Given the description of an element on the screen output the (x, y) to click on. 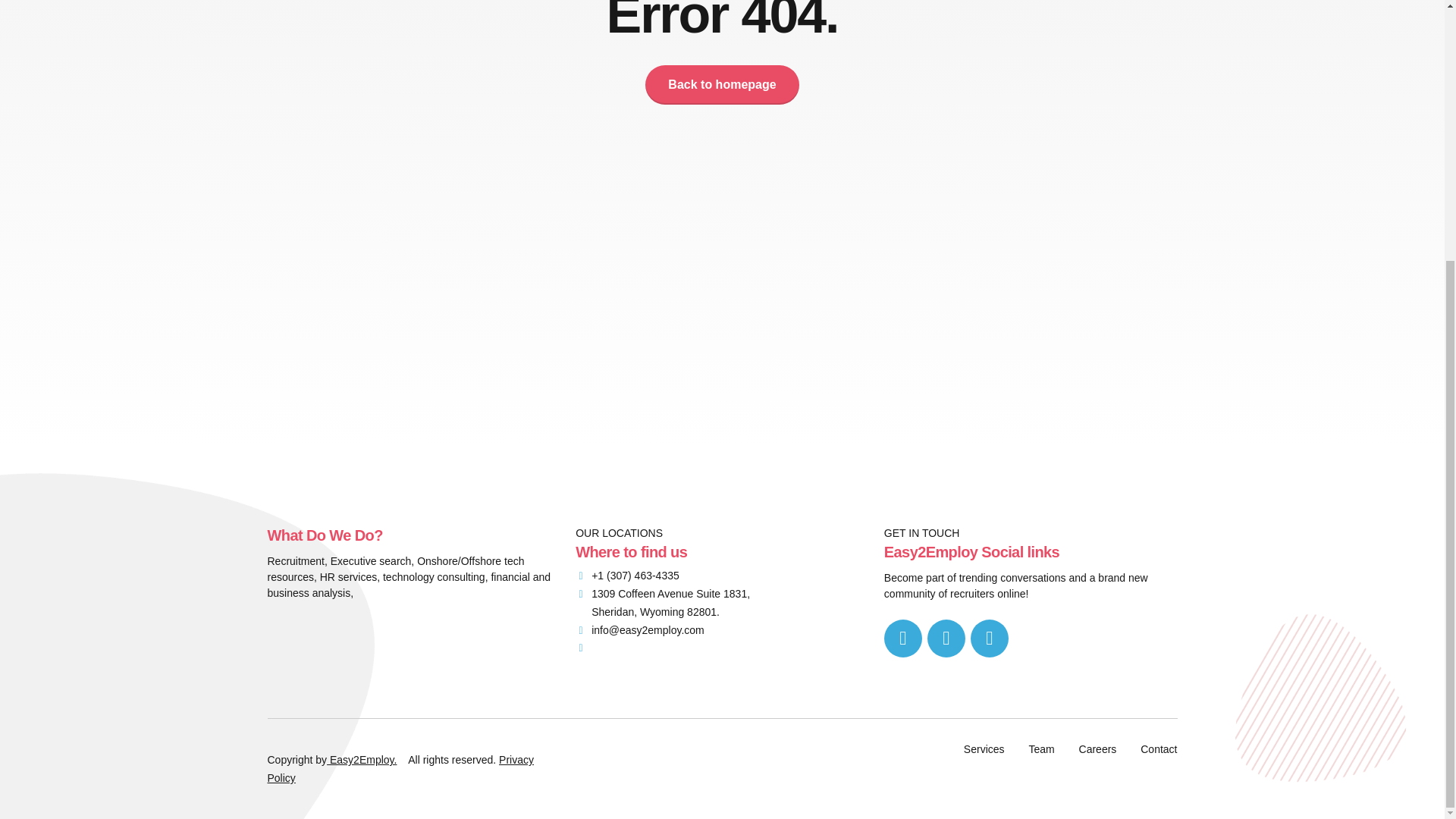
Services (983, 748)
Privacy Policy (399, 768)
1309 Coffeen Avenue Suite 1831, (662, 593)
Sheridan, Wyoming 82801. (647, 612)
Contact (1158, 748)
Easy2Employ. (361, 759)
Back to homepage (721, 84)
Team (1040, 748)
Careers (1097, 748)
Sheridan, Wyoming 82801. (647, 612)
1309 Coffeen Avenue Suite 1831, (662, 593)
